Given the description of an element on the screen output the (x, y) to click on. 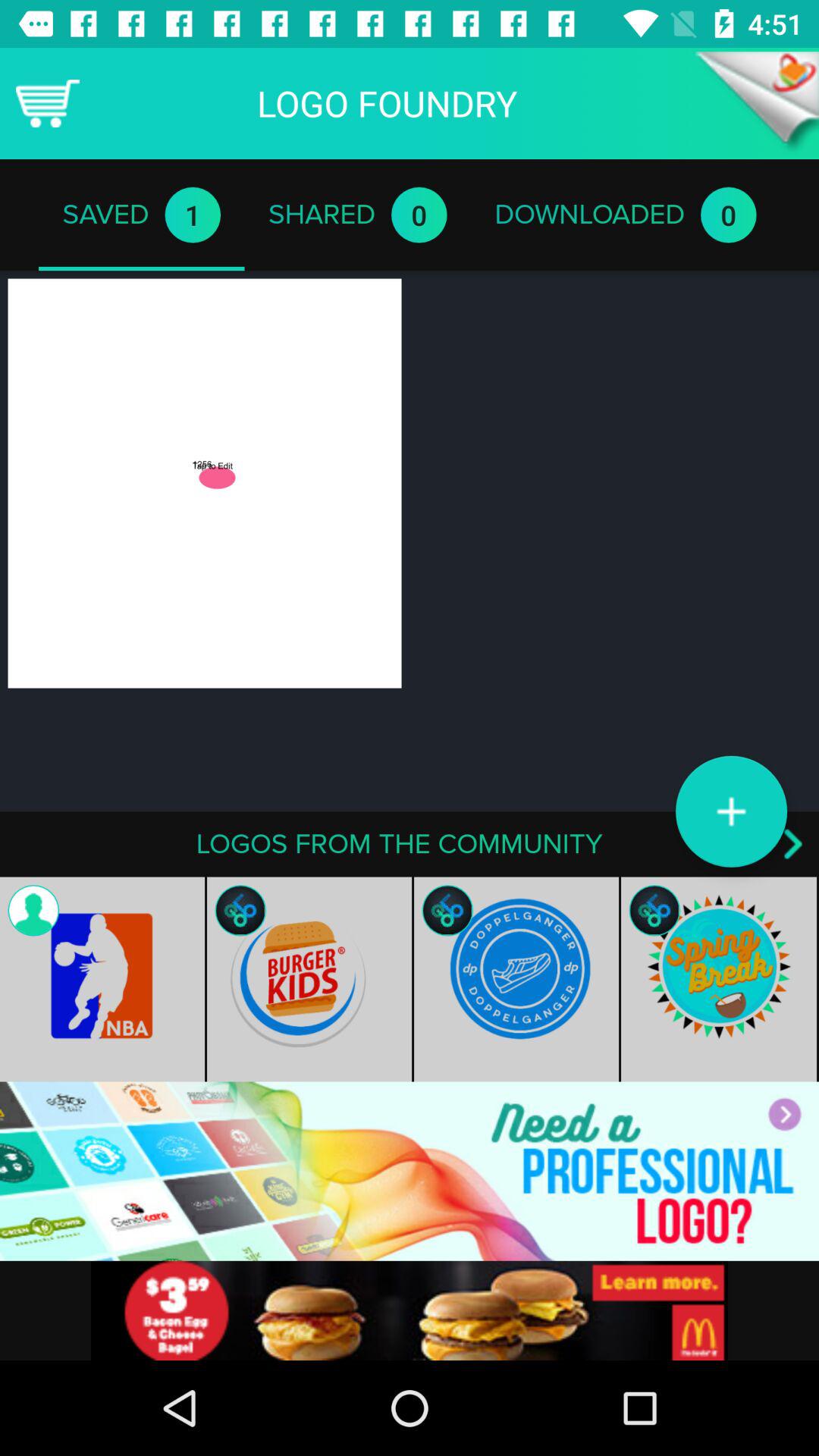
go to shopping cart (47, 103)
